Given the description of an element on the screen output the (x, y) to click on. 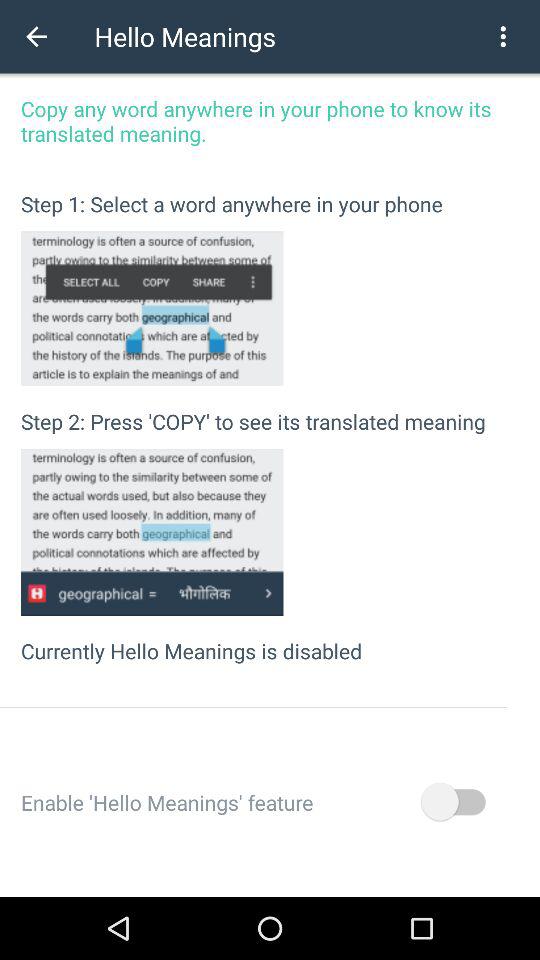
tap icon at the top right corner (503, 36)
